Given the description of an element on the screen output the (x, y) to click on. 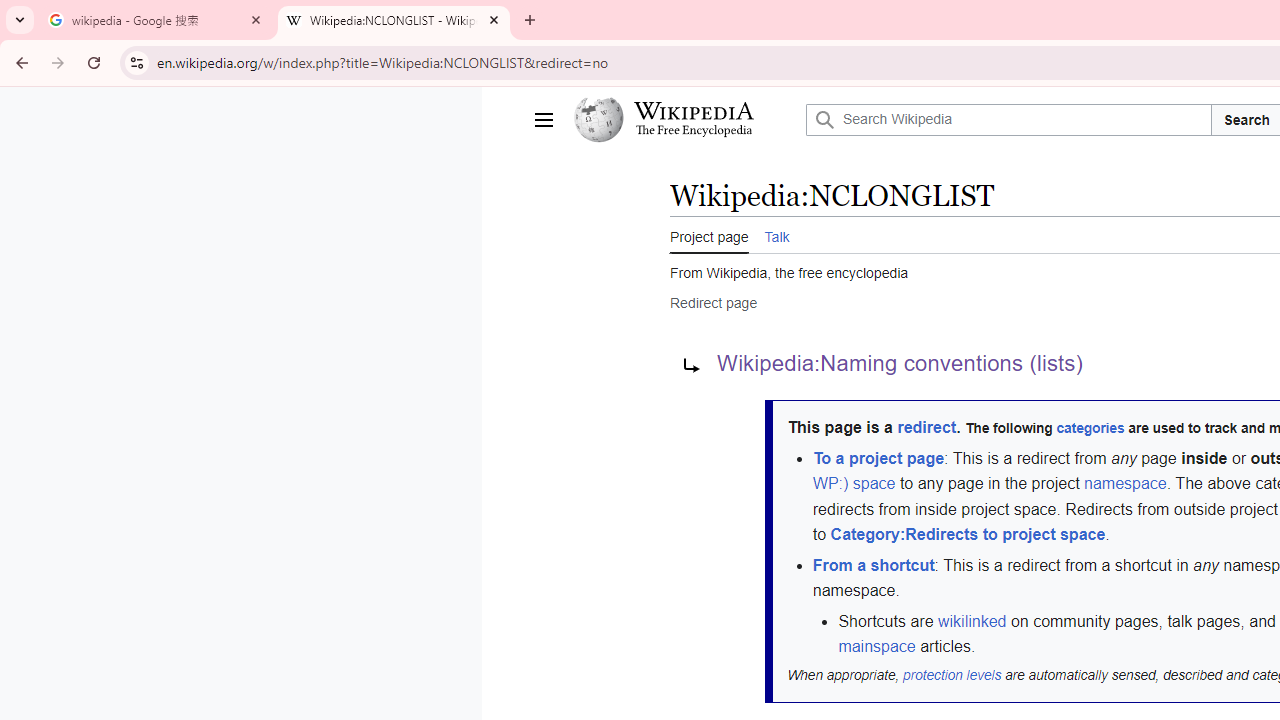
Wikipedia:NCLONGLIST - Wikipedia (394, 20)
protection levels (952, 674)
Wikipedia The Free Encyclopedia (684, 119)
Talk (776, 235)
namespace (1125, 484)
AutomationID: ca-talk (776, 234)
Forward (57, 62)
AutomationID: ca-nstab-project (708, 234)
New Tab (529, 20)
Wikipedia:Naming conventions (lists) (900, 364)
View site information (136, 62)
The Free Encyclopedia (693, 131)
